Given the description of an element on the screen output the (x, y) to click on. 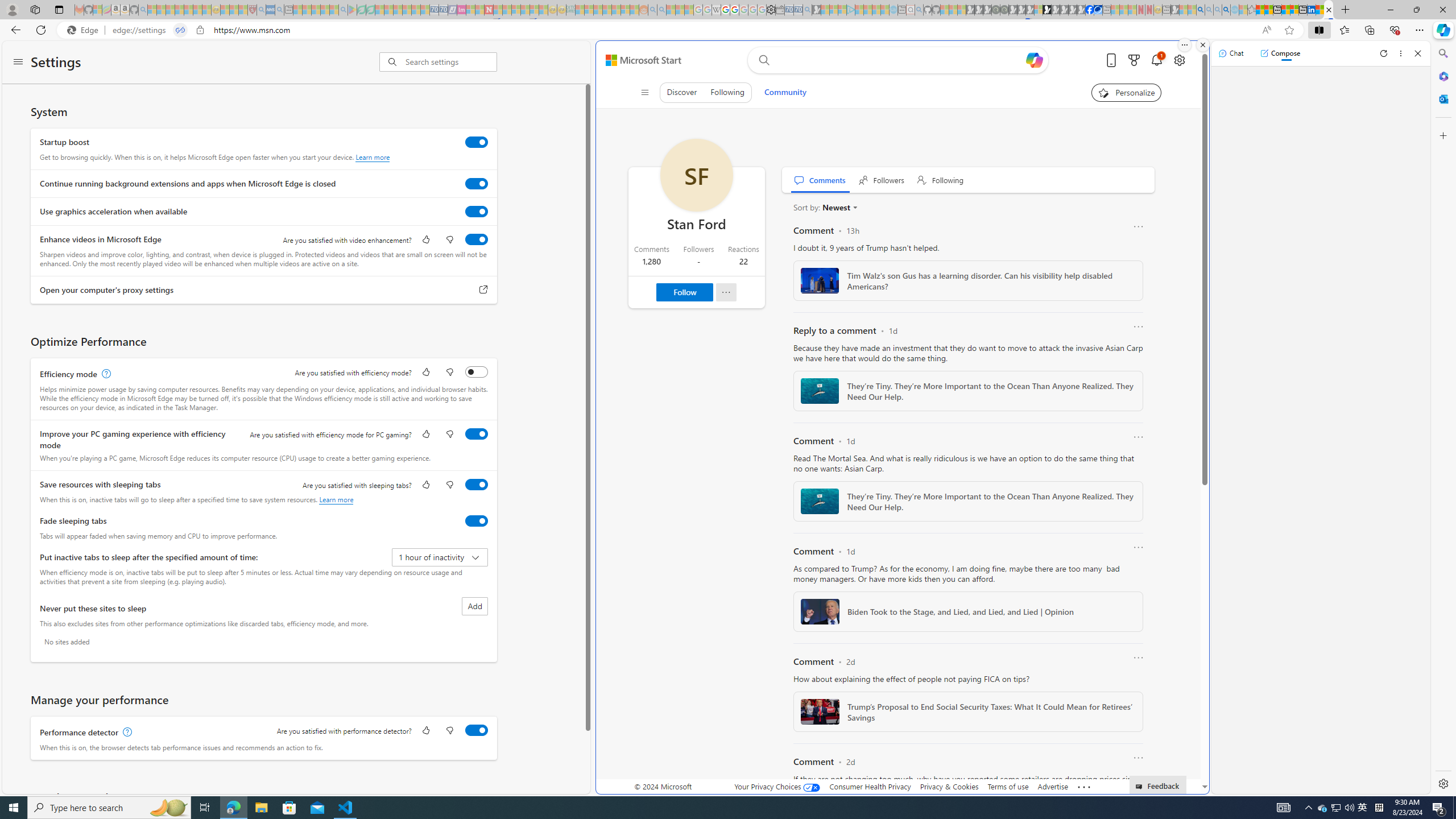
Class: control icon-only (643, 92)
Search settings (451, 61)
